Given the description of an element on the screen output the (x, y) to click on. 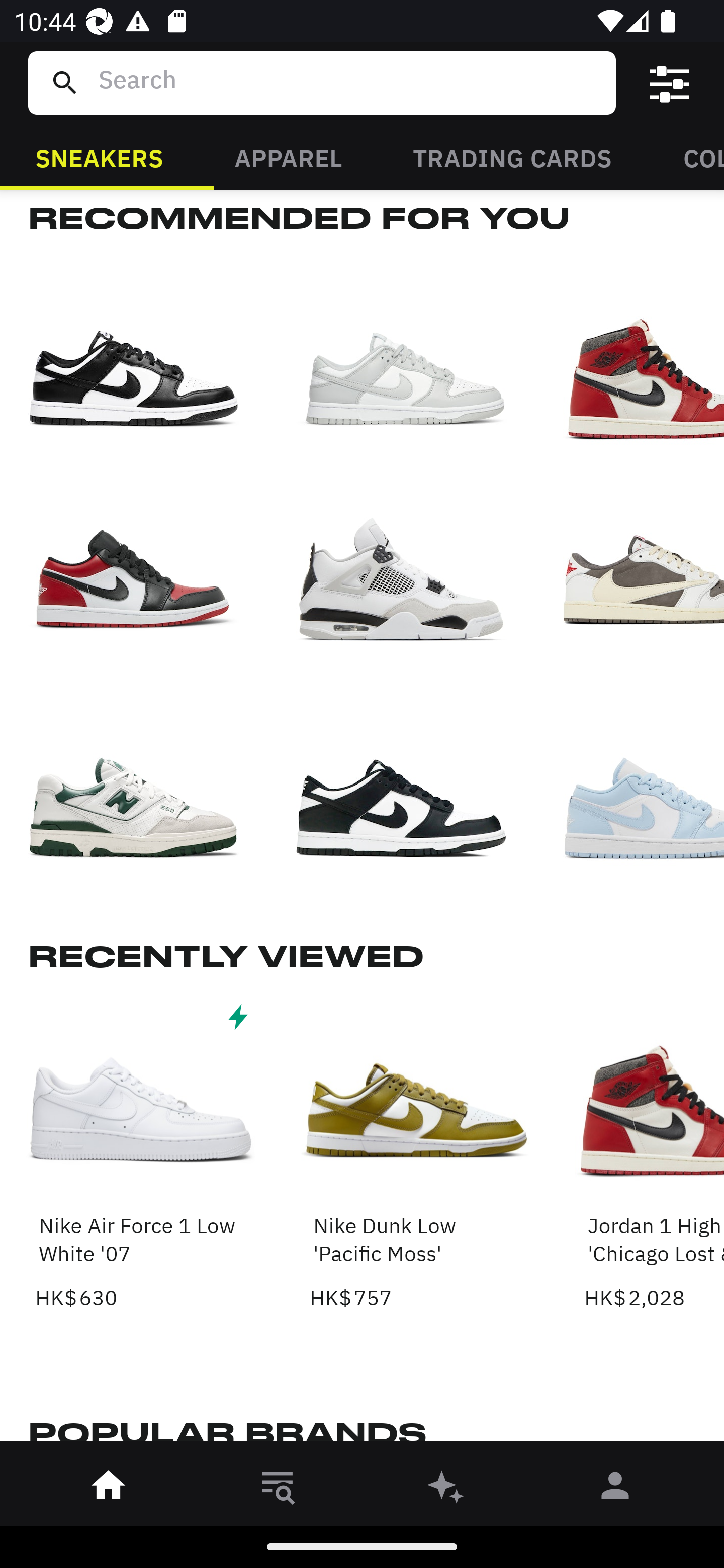
Search (349, 82)
 (669, 82)
SNEAKERS (99, 156)
APPAREL (287, 156)
TRADING CARDS (512, 156)
 Nike Air Force 1 Low White '07 HK$ 630 (140, 1155)
Nike Dunk Low 'Pacific Moss' HK$ 757 (414, 1155)
Jordan 1 High 'Chicago Lost & Found' HK$ 2,028 (654, 1155)
󰋜 (108, 1488)
󱎸 (277, 1488)
󰫢 (446, 1488)
󰀄 (615, 1488)
